Given the description of an element on the screen output the (x, y) to click on. 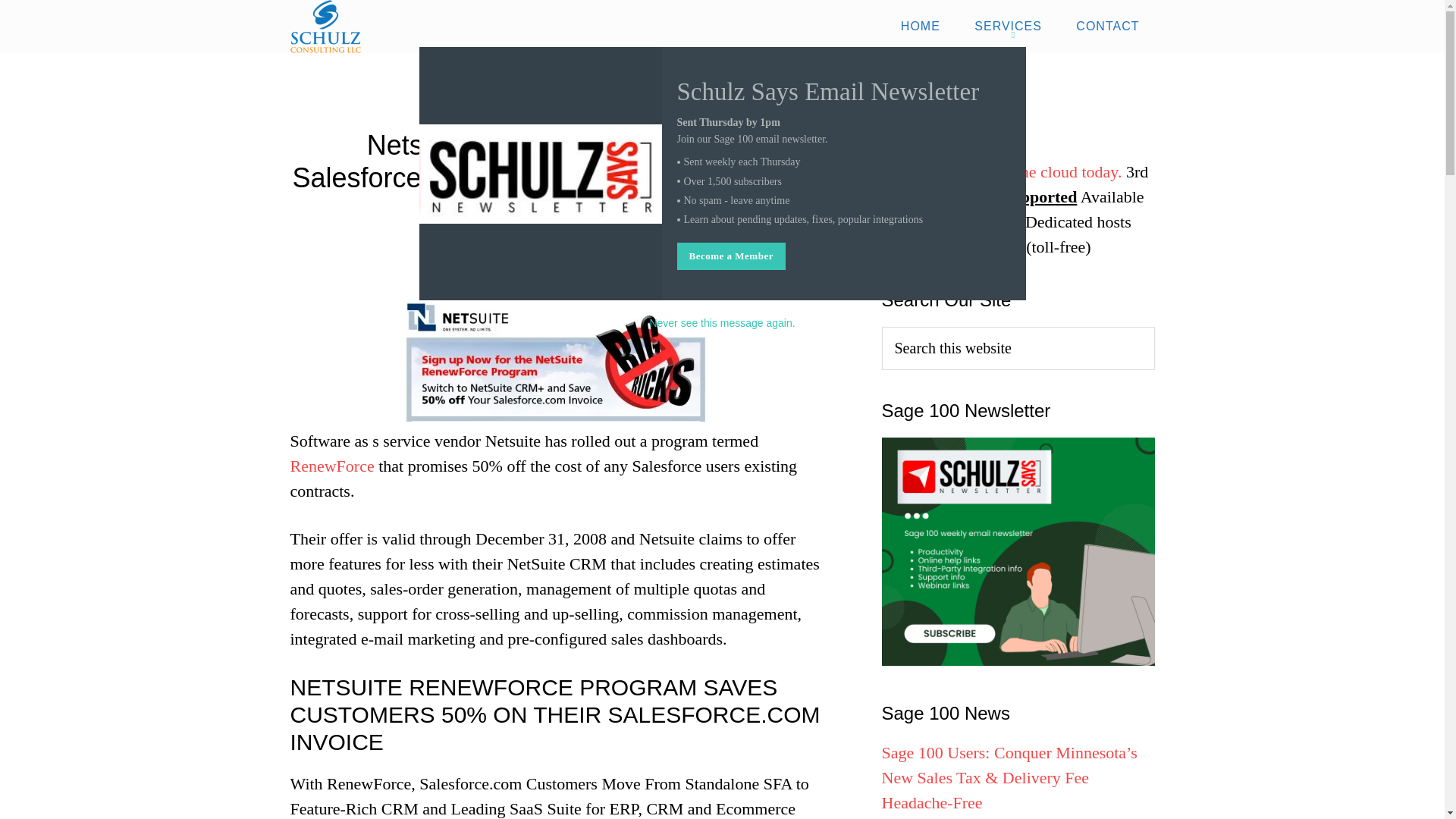
Sage 100 News Alerts (1017, 551)
SCHULZ CONSULTING (425, 26)
Wayne Schulz (619, 220)
RenewForce (331, 465)
SERVICES (1008, 26)
Access Sage 100 in the cloud today. (1000, 171)
CONTACT (1107, 26)
HOME (920, 26)
